Given the description of an element on the screen output the (x, y) to click on. 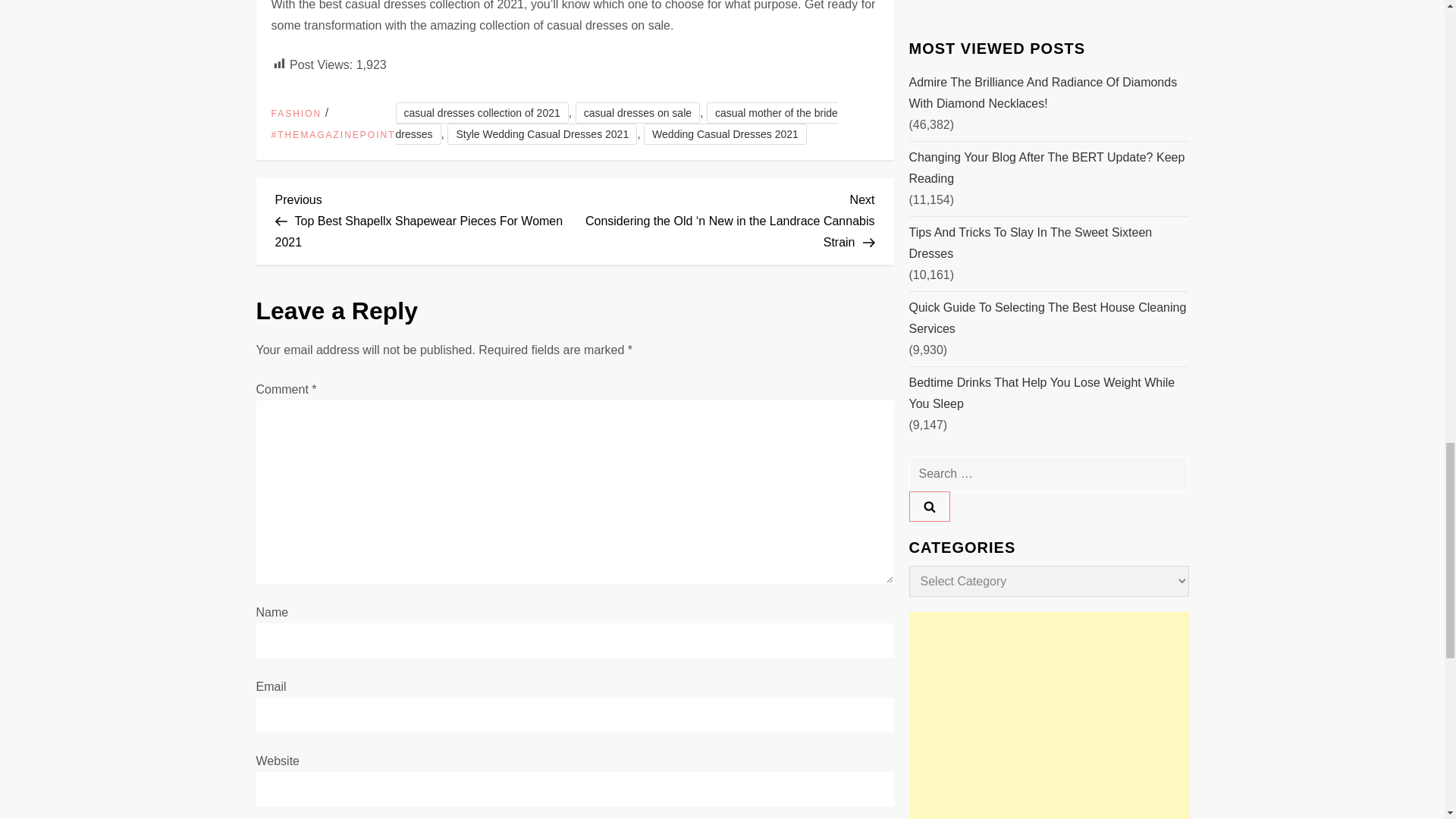
Style Wedding Casual Dresses 2021 (541, 133)
casual dresses on sale (637, 112)
casual mother of the bride dresses (617, 123)
casual dresses collection of 2021 (482, 112)
FASHION (295, 114)
Wedding Casual Dresses 2021 (724, 133)
